Given the description of an element on the screen output the (x, y) to click on. 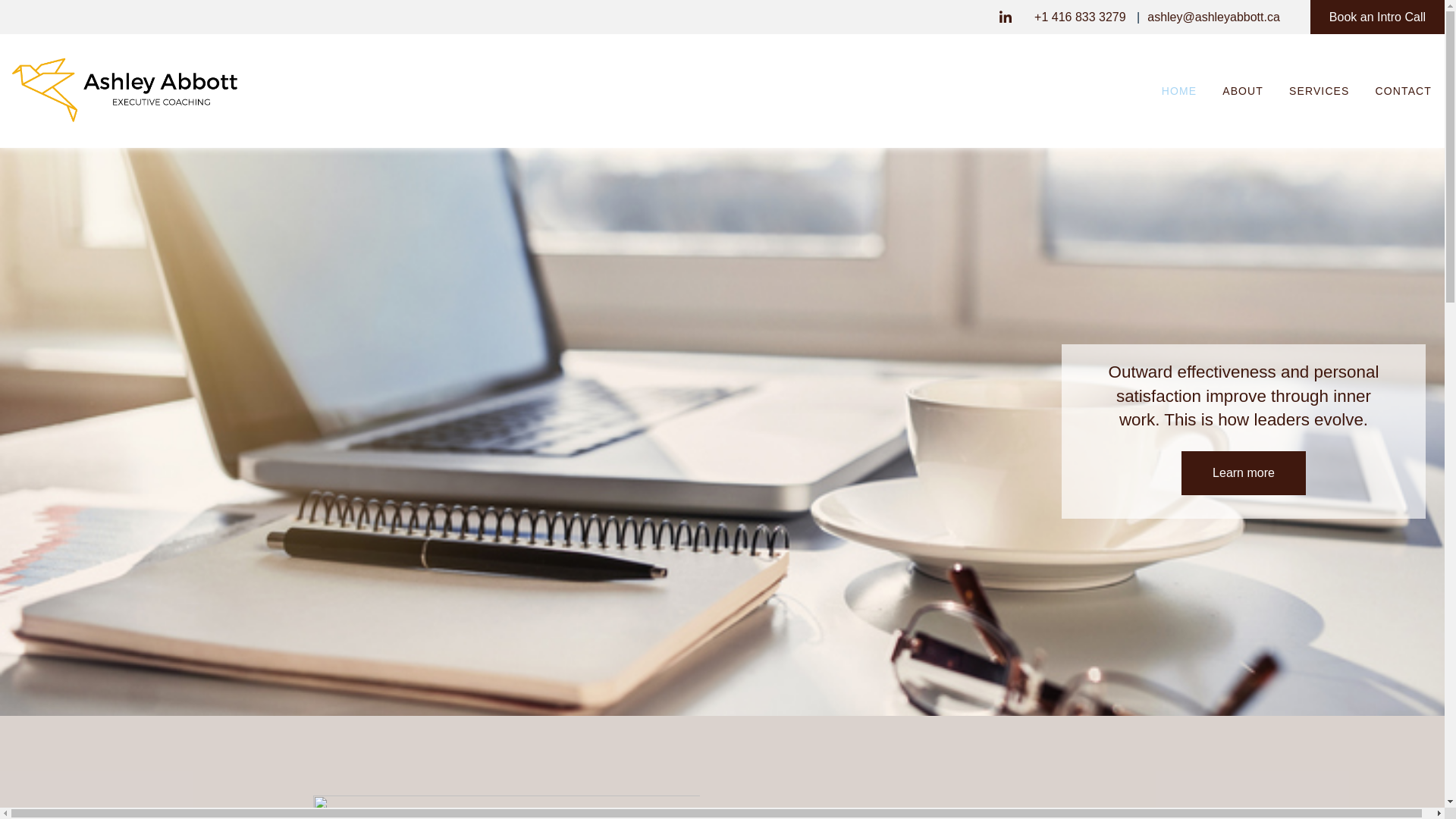
HOME Element type: text (1178, 90)
ABOUT Element type: text (1242, 90)
CONTACT Element type: text (1403, 90)
+1 416 833 3279 Element type: text (1080, 17)
SERVICES Element type: text (1319, 90)
Book an Intro Call Element type: text (1377, 17)
ashley@ashleyabbott.ca Element type: text (1213, 17)
Learn more Element type: text (1243, 473)
